Given the description of an element on the screen output the (x, y) to click on. 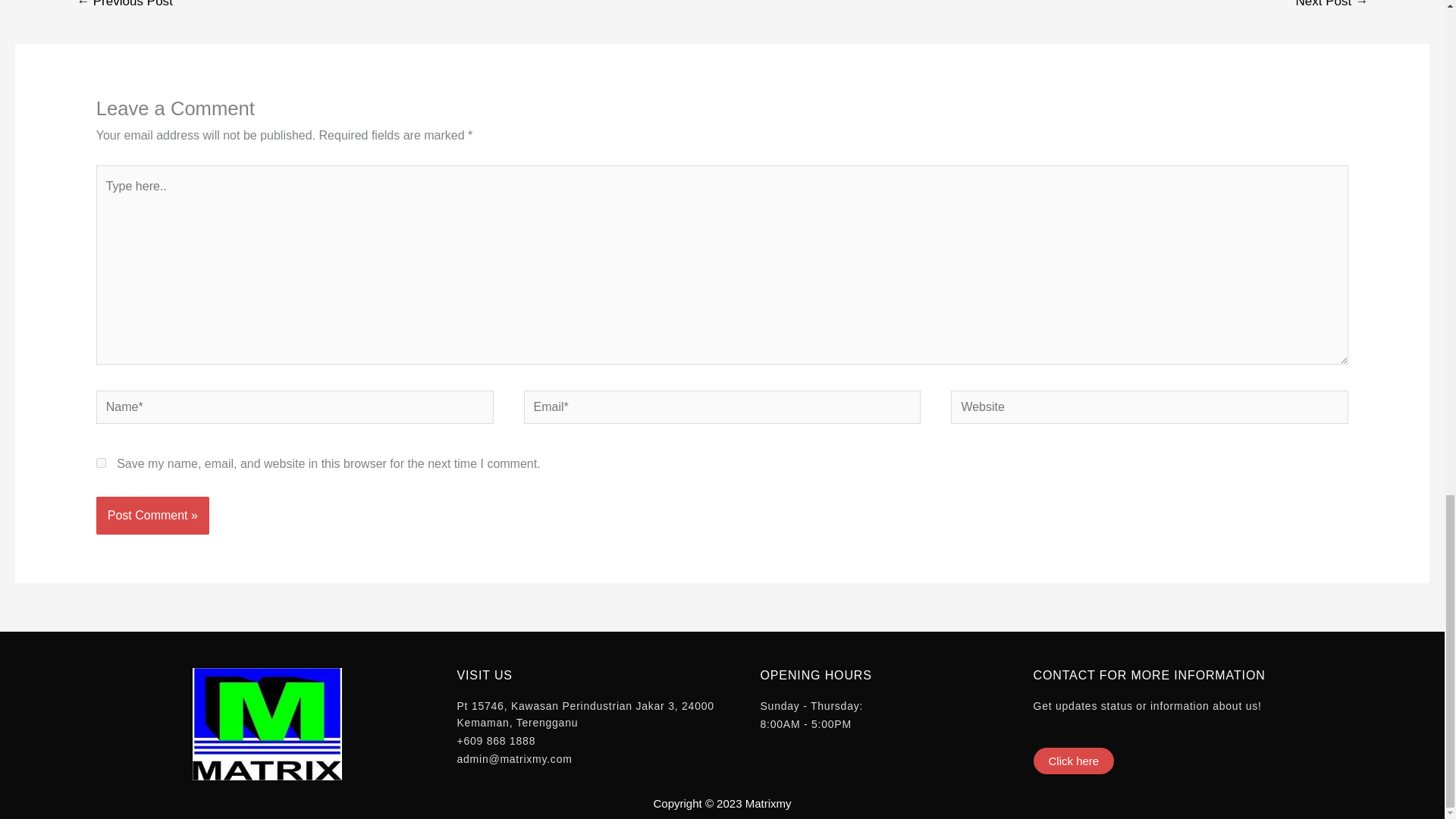
Click here (1072, 760)
yes (101, 462)
